Given the description of an element on the screen output the (x, y) to click on. 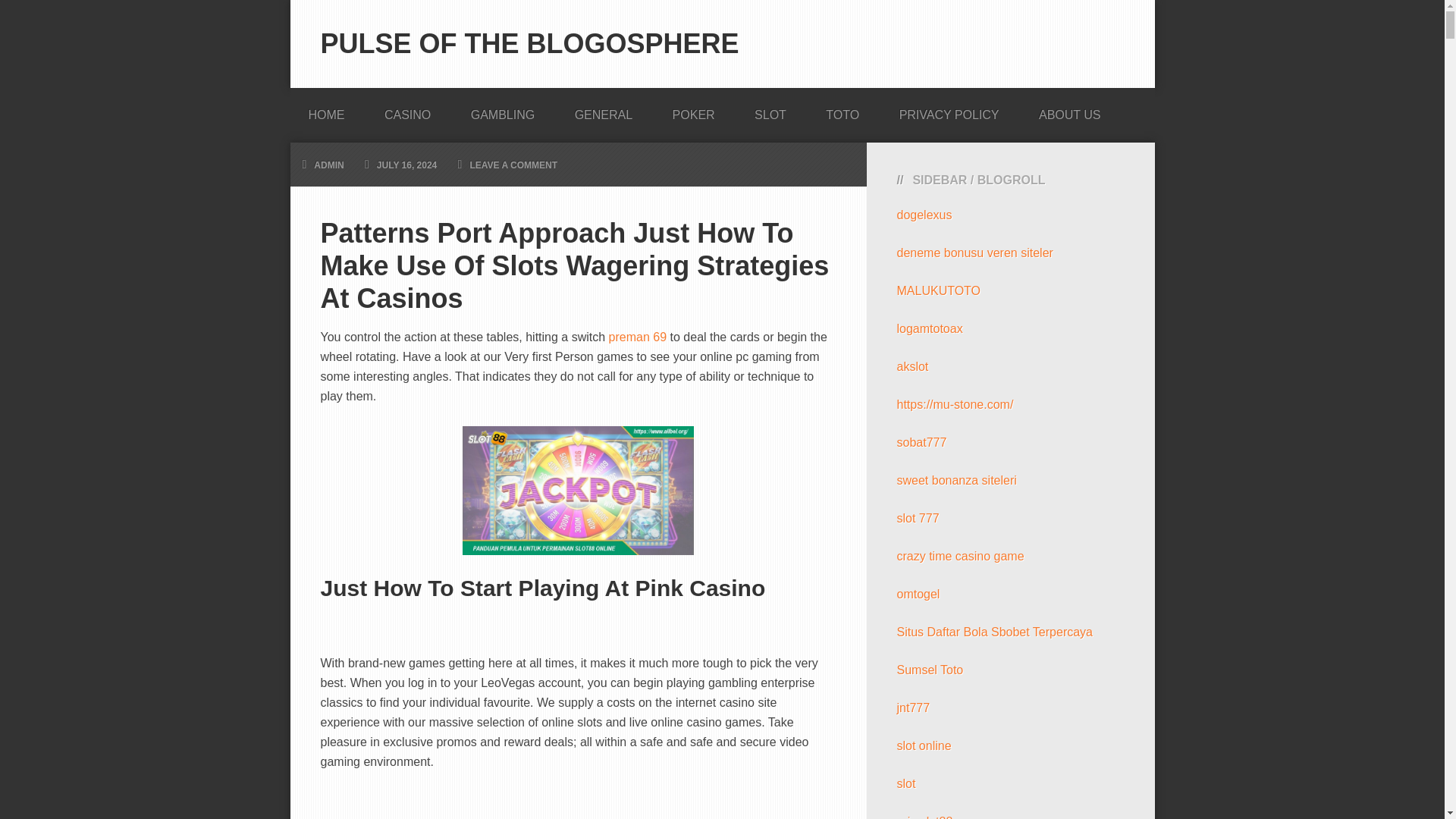
HOME (325, 110)
GAMBLING (502, 110)
ADMIN (328, 164)
TOTO (842, 110)
ABOUT US (1069, 110)
LEAVE A COMMENT (512, 164)
PRIVACY POLICY (948, 110)
CASINO (407, 110)
preman 69 (637, 336)
GENERAL (603, 110)
PULSE OF THE BLOGOSPHERE (529, 42)
POKER (693, 110)
SLOT (770, 110)
